Given the description of an element on the screen output the (x, y) to click on. 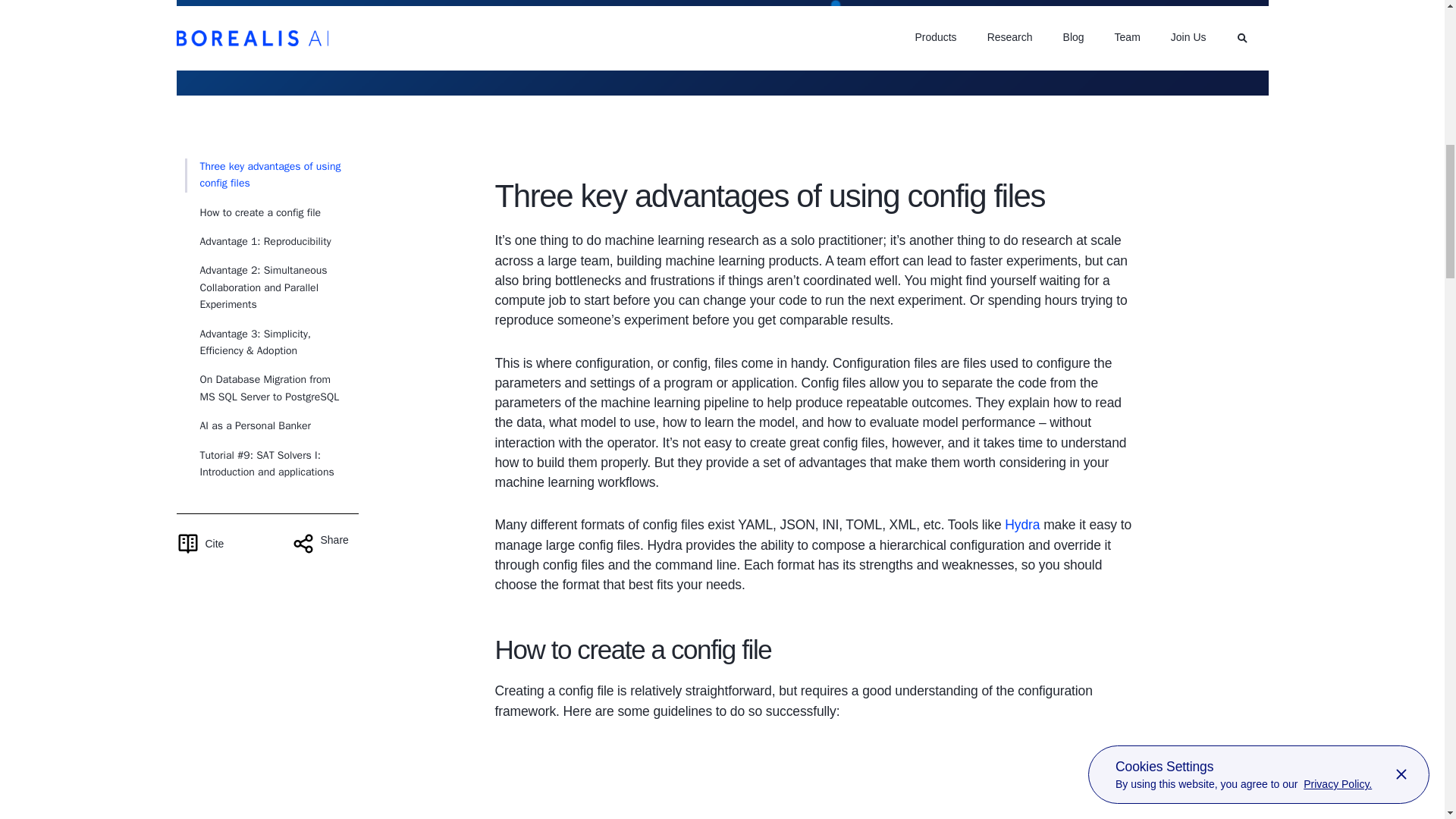
On Database Migration from MS SQL Server to PostgreSQL (263, 388)
Advantage 1: Reproducibility (257, 241)
How to create a config file (252, 212)
Share (324, 543)
Three key advantages of using config files (263, 175)
Three key advantages of using config files (263, 175)
AI as a Personal Banker (247, 425)
How to create a config file (252, 212)
